Given the description of an element on the screen output the (x, y) to click on. 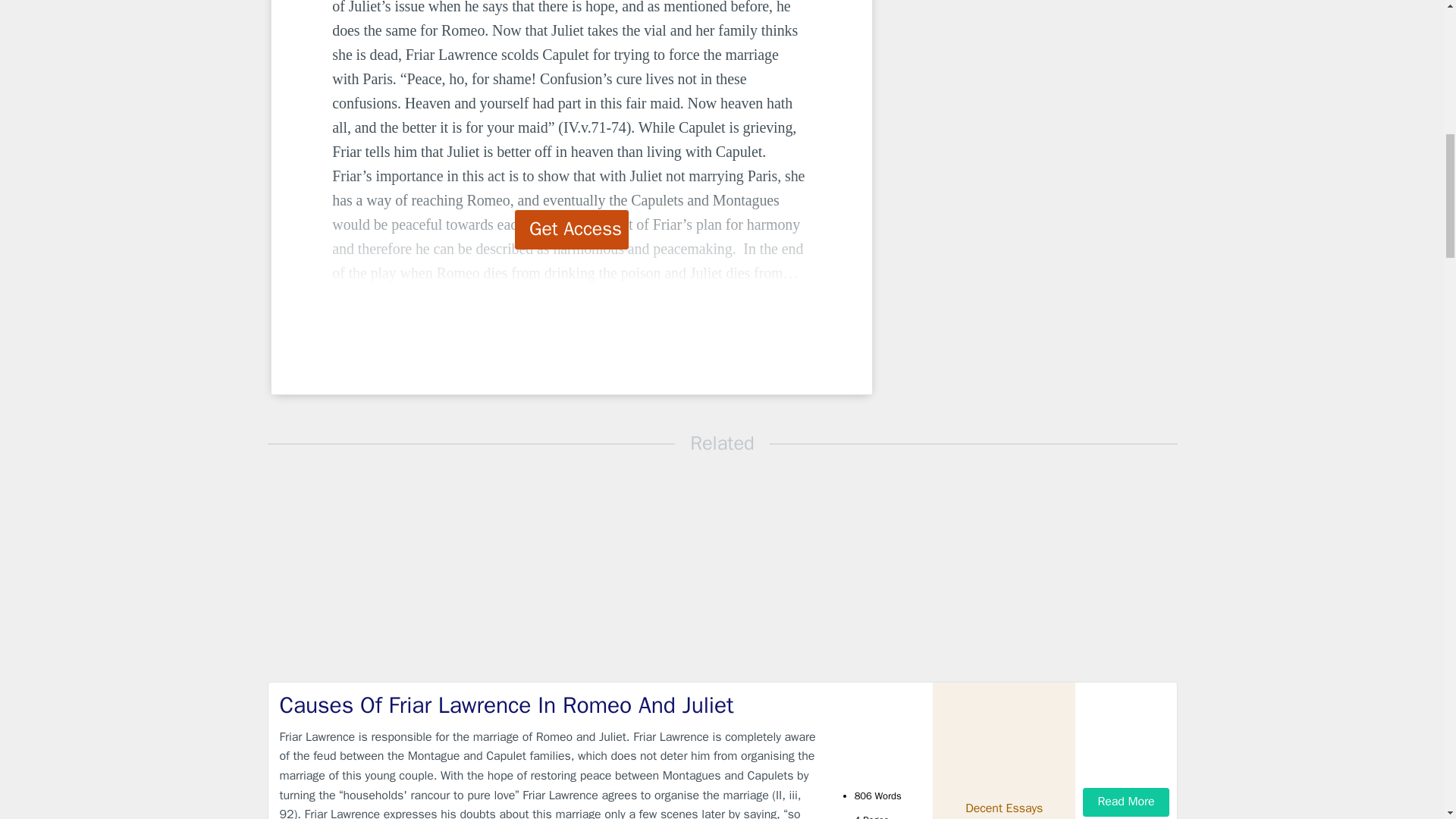
Read More (1126, 801)
Get Access (571, 229)
Causes Of Friar Lawrence In Romeo And Juliet (548, 705)
